Given the description of an element on the screen output the (x, y) to click on. 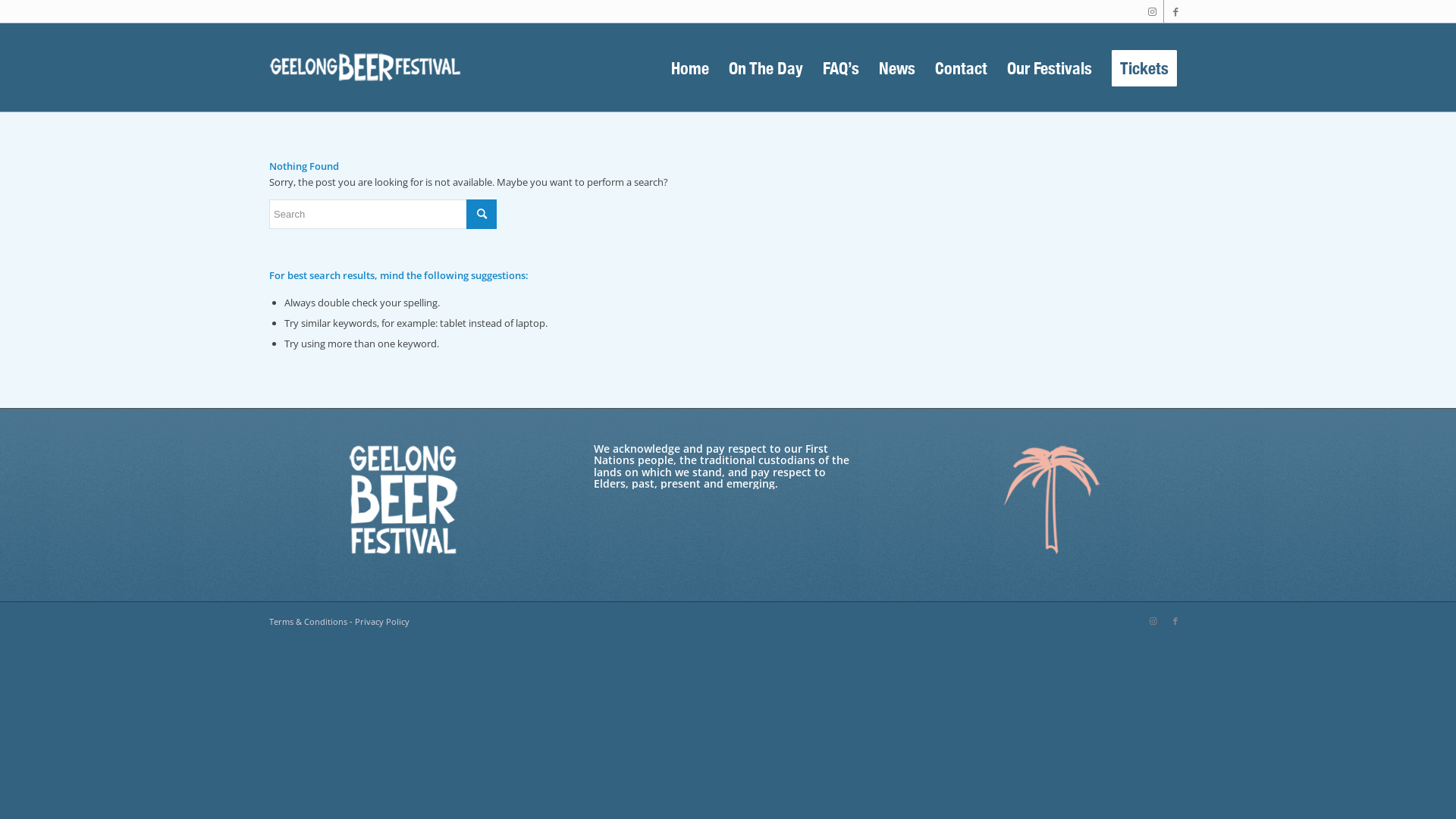
Terms & Conditions Element type: text (308, 621)
Tickets Element type: text (1143, 67)
Facebook Element type: hover (1175, 620)
Facebook Element type: hover (1175, 11)
On The Day Element type: text (765, 67)
Instagram Element type: hover (1152, 620)
News Element type: text (897, 67)
Our Festivals Element type: text (1049, 67)
Privacy Policy Element type: text (381, 621)
Contact Element type: text (961, 67)
Instagram Element type: hover (1152, 11)
Home Element type: text (689, 67)
geelong beer festival logo white Element type: hover (365, 67)
